Given the description of an element on the screen output the (x, y) to click on. 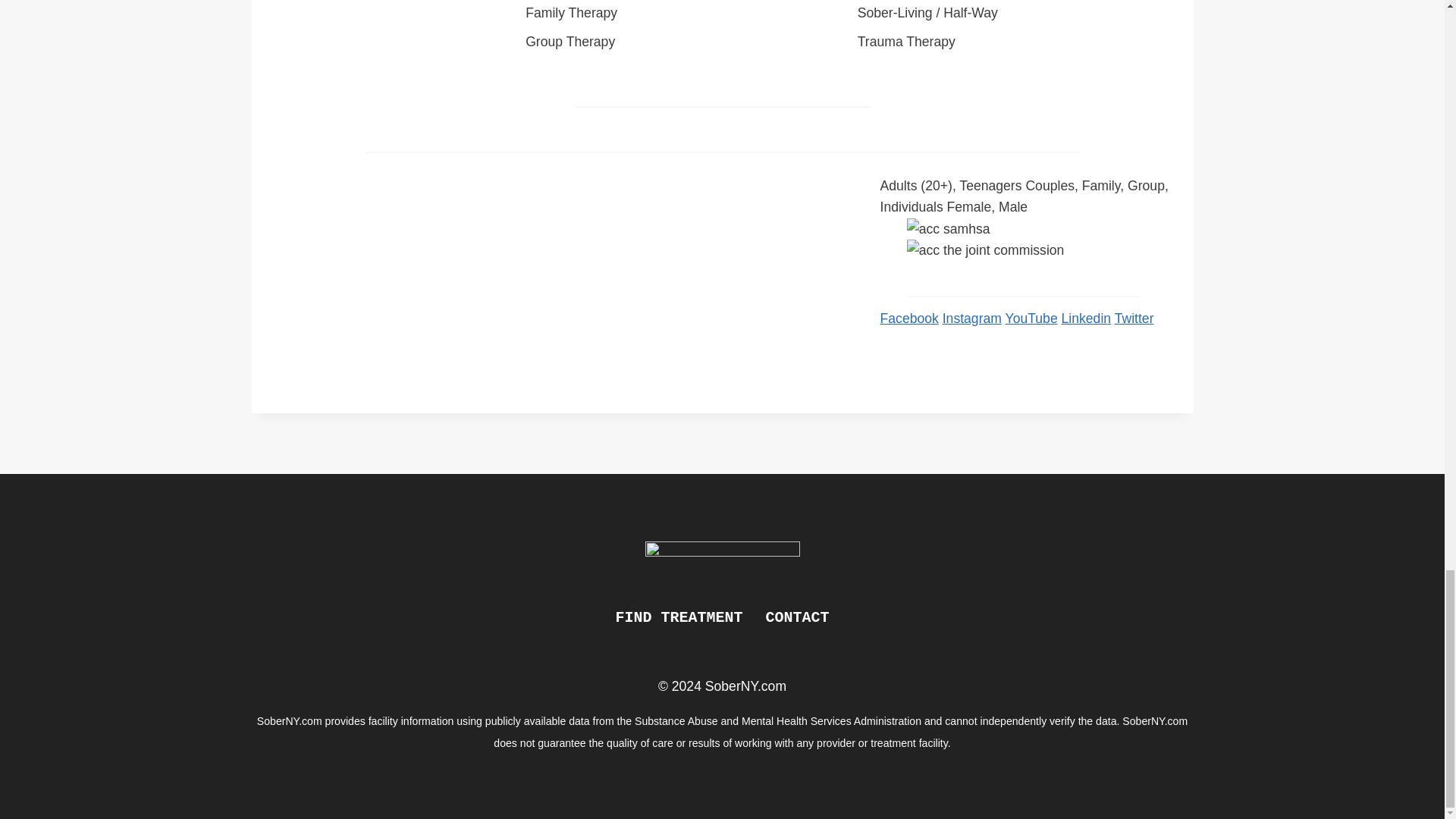
YouTube (1032, 318)
Facebook (909, 318)
Linkedin (1086, 318)
YouTube (1032, 318)
Facebook (909, 318)
Instagram (971, 318)
Linkedin (1086, 318)
CONTACT (797, 618)
Twitter (1134, 318)
Recovery Center - Chemical Dependency 1 (1038, 228)
